Given the description of an element on the screen output the (x, y) to click on. 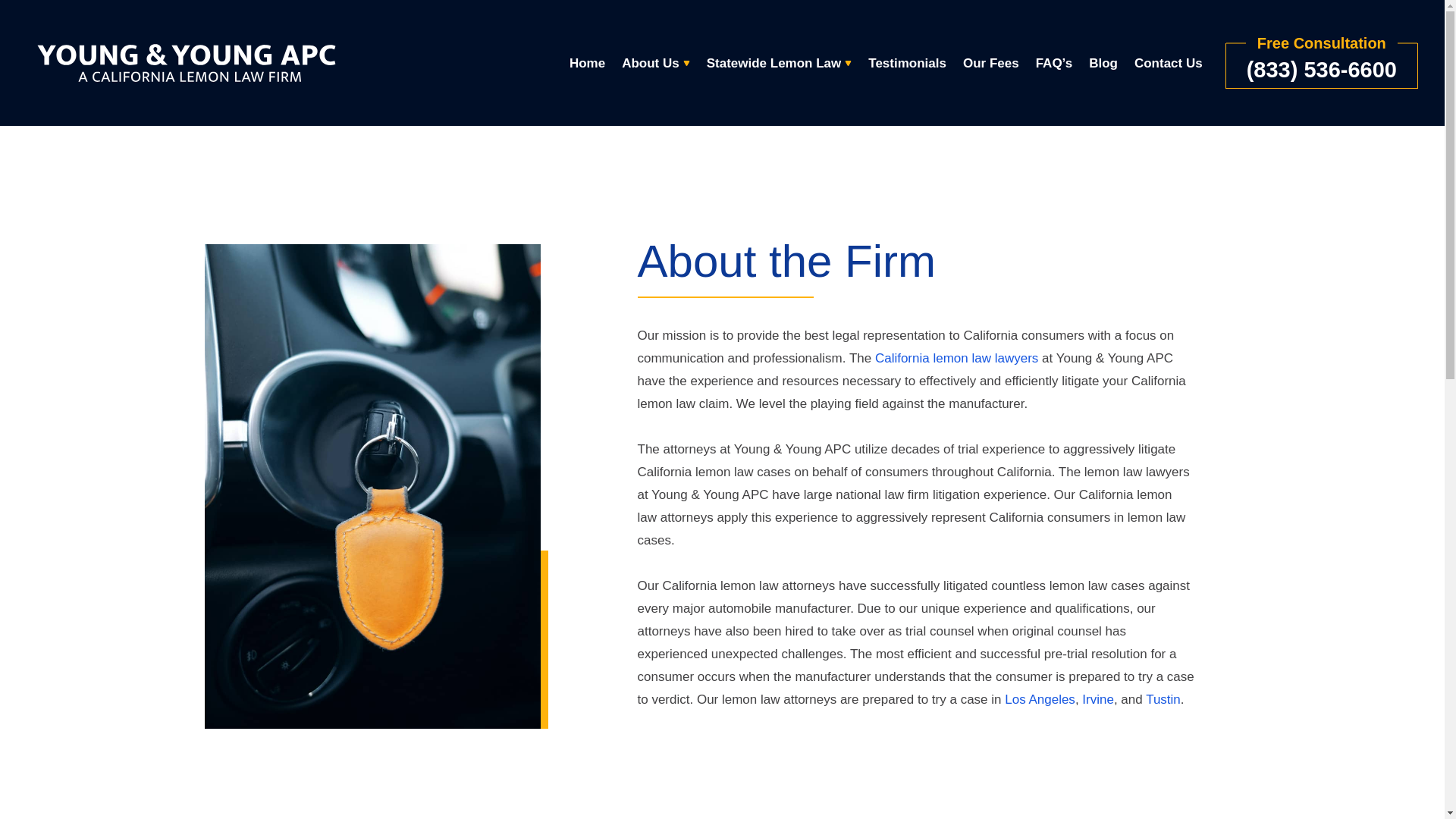
Los Angeles (1039, 699)
Testimonials (906, 62)
Statewide Lemon Law (778, 62)
Contact Us (1168, 62)
About Us (655, 62)
Home (587, 62)
Tustin (1162, 699)
Our Fees (990, 62)
Irvine (1097, 699)
California lemon law lawyers (956, 358)
